Given the description of an element on the screen output the (x, y) to click on. 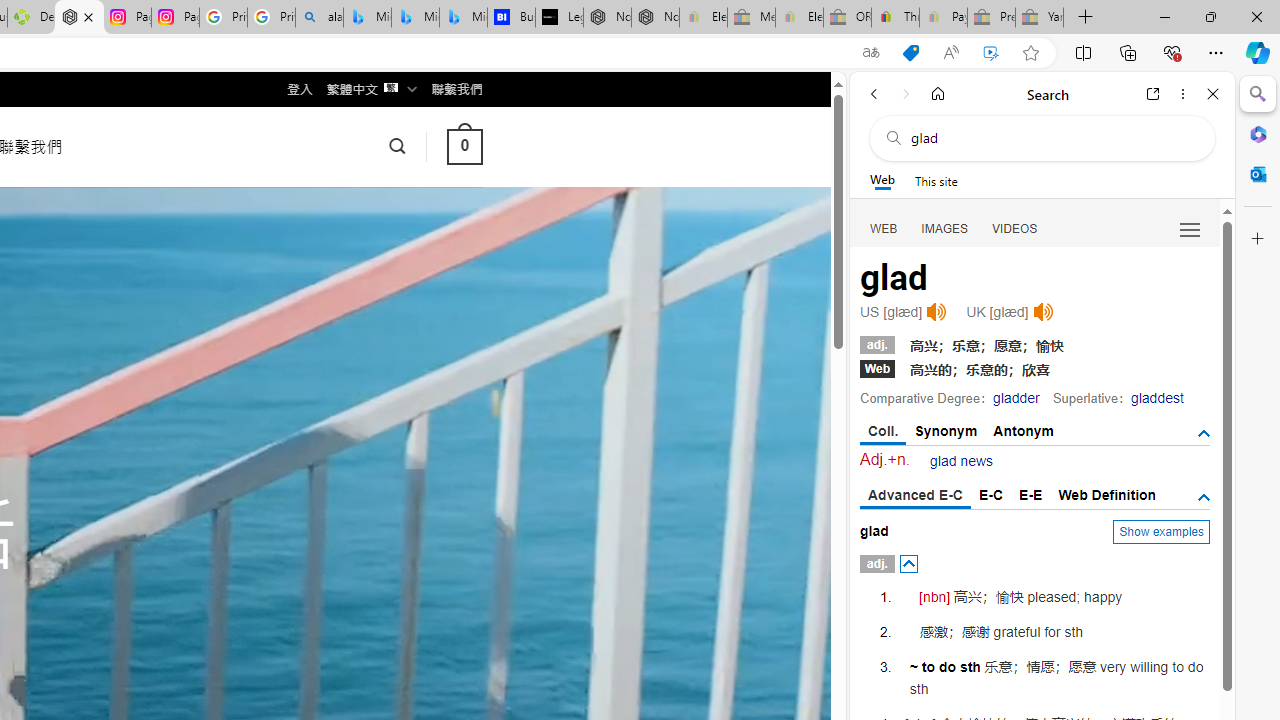
Search the web (1051, 137)
Back (874, 93)
Home (938, 93)
Class: b_serphb (1190, 229)
Advanced E-C (915, 496)
Add this page to favorites (Ctrl+D) (1030, 53)
Synonym (945, 430)
Press Room - eBay Inc. - Sleeping (991, 17)
gladder (1015, 398)
